Given the description of an element on the screen output the (x, y) to click on. 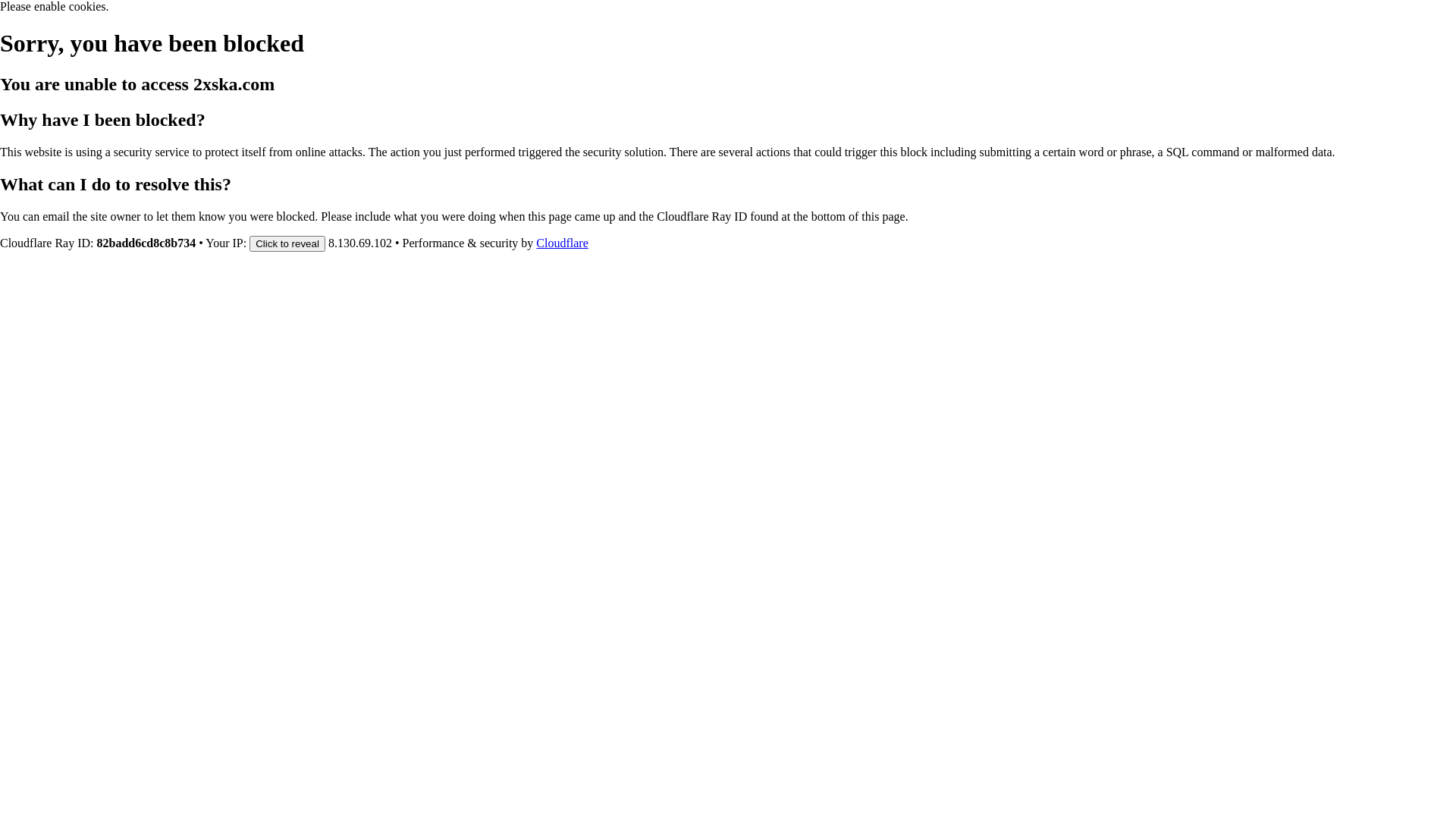
Click to reveal Element type: text (287, 243)
Cloudflare Element type: text (561, 242)
